Given the description of an element on the screen output the (x, y) to click on. 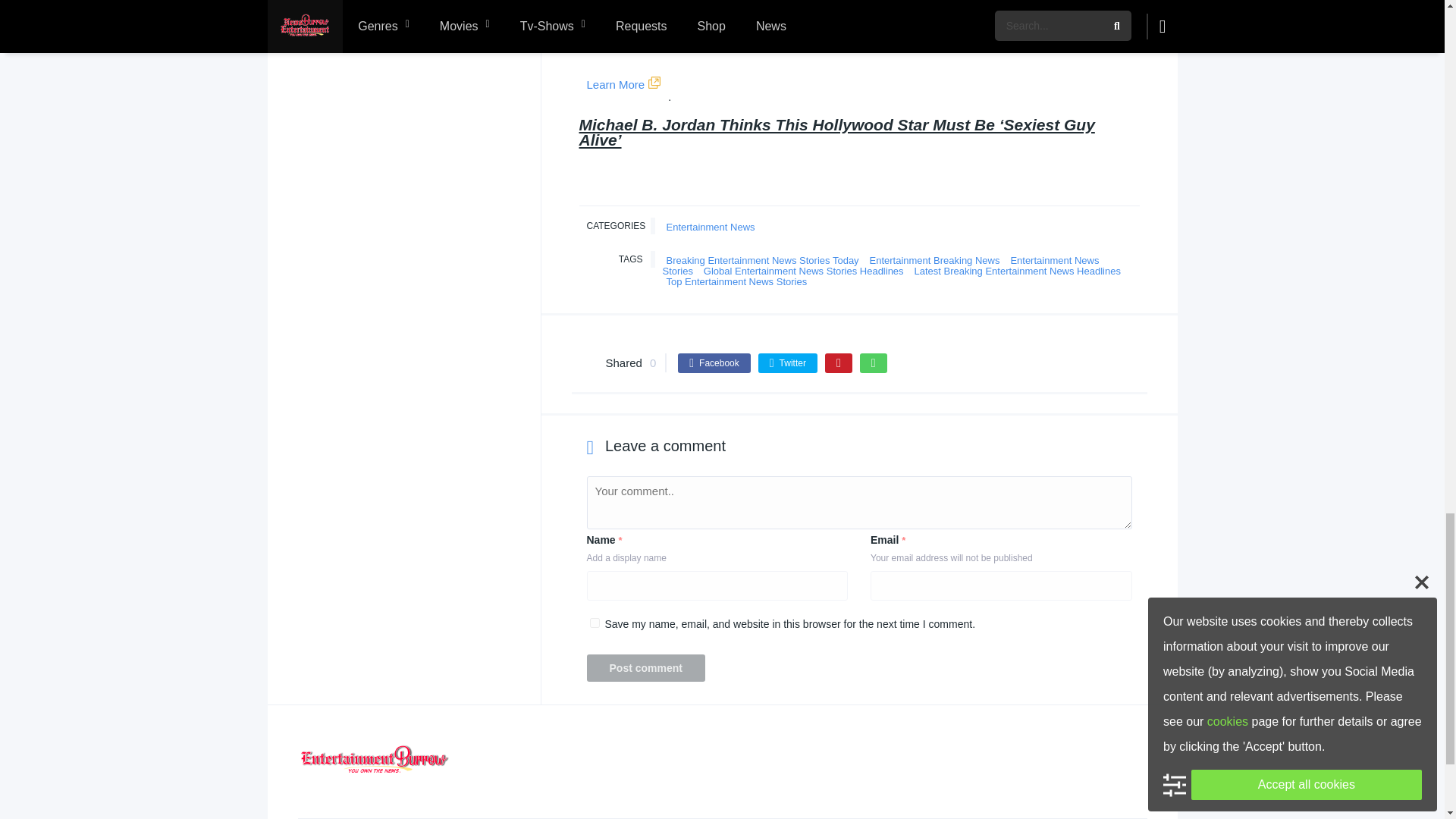
Link goes to external site. (654, 83)
Post comment (645, 667)
yes (594, 623)
